Given the description of an element on the screen output the (x, y) to click on. 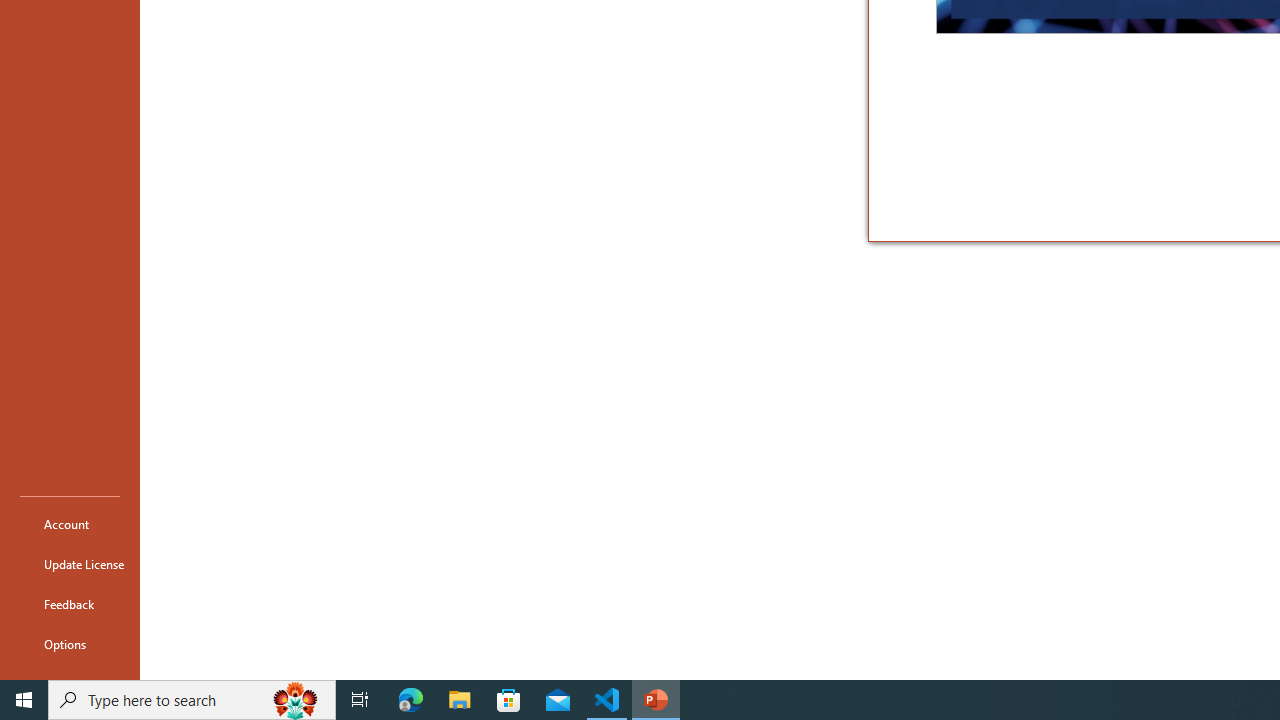
Options (69, 643)
Feedback (69, 603)
Account (69, 523)
Update License (69, 563)
